Given the description of an element on the screen output the (x, y) to click on. 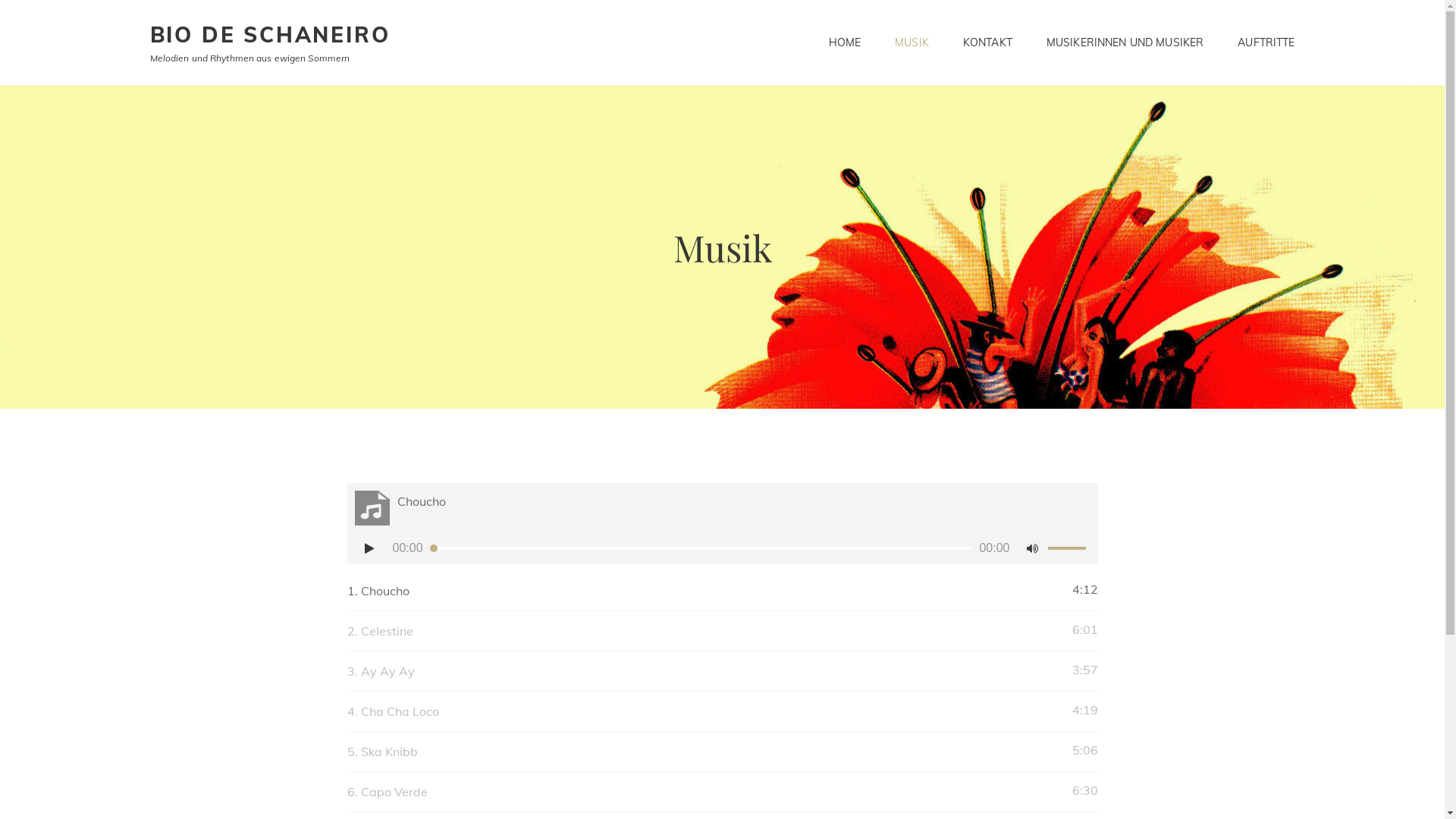
MUSIKERINNEN UND MUSIKER Element type: text (1124, 42)
4. Cha Cha Loco Element type: text (707, 710)
AUFTRITTE Element type: text (1265, 42)
6. Capo Verde Element type: text (707, 791)
2. Celestine Element type: text (707, 630)
Stumm Element type: hover (1032, 548)
1. Choucho Element type: text (707, 590)
HOME Element type: text (844, 42)
5. Ska Knibb Element type: text (707, 751)
Abspielen Element type: hover (369, 548)
3. Ay Ay Ay Element type: text (707, 670)
KONTAKT Element type: text (987, 42)
BIO DE SCHANEIRO Element type: text (270, 34)
MUSIK Element type: text (911, 42)
